Given the description of an element on the screen output the (x, y) to click on. 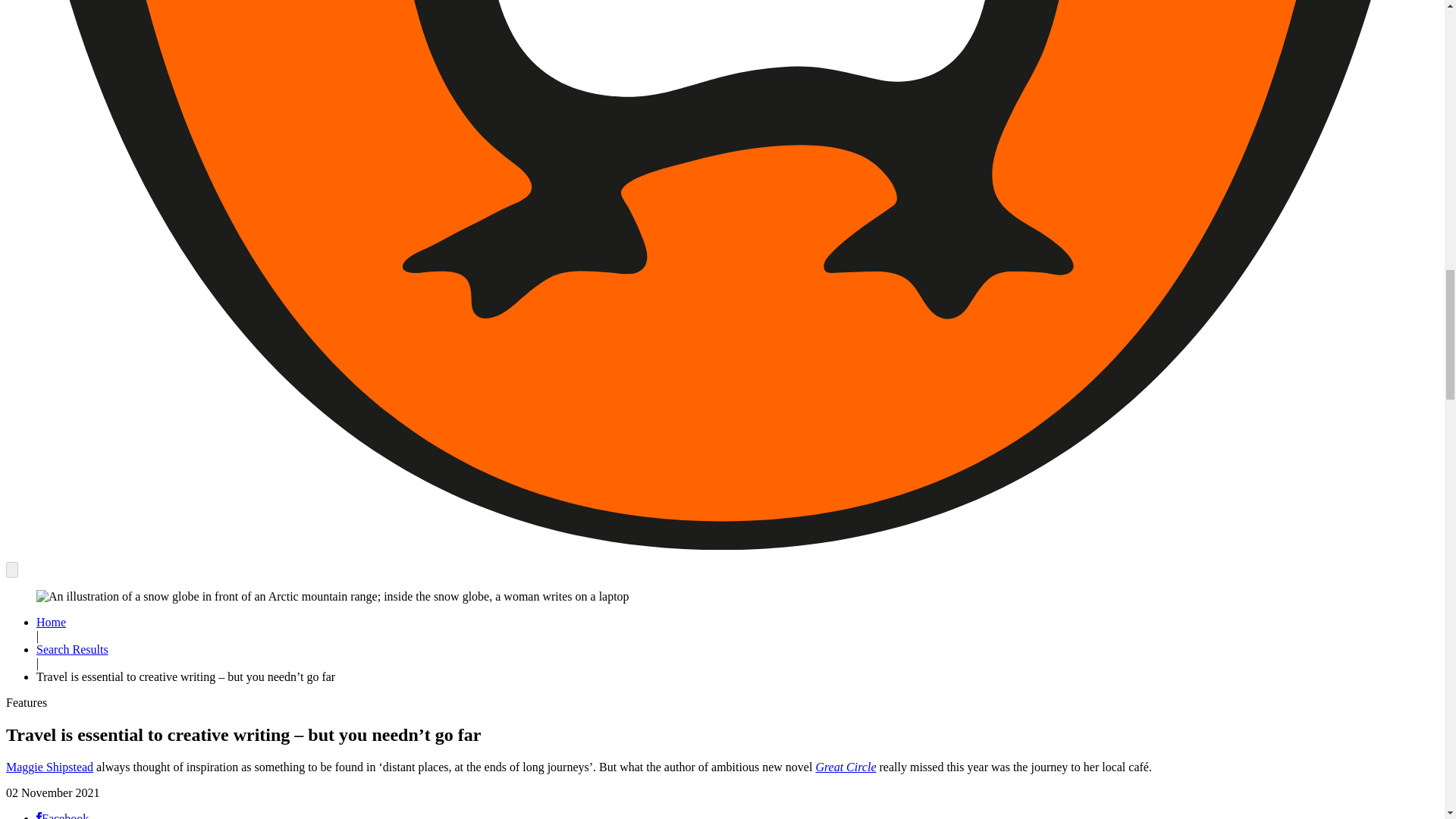
Home (50, 621)
Maggie Shipstead (49, 766)
Great Circle (845, 766)
Search Results (71, 649)
Facebook (62, 815)
